Given the description of an element on the screen output the (x, y) to click on. 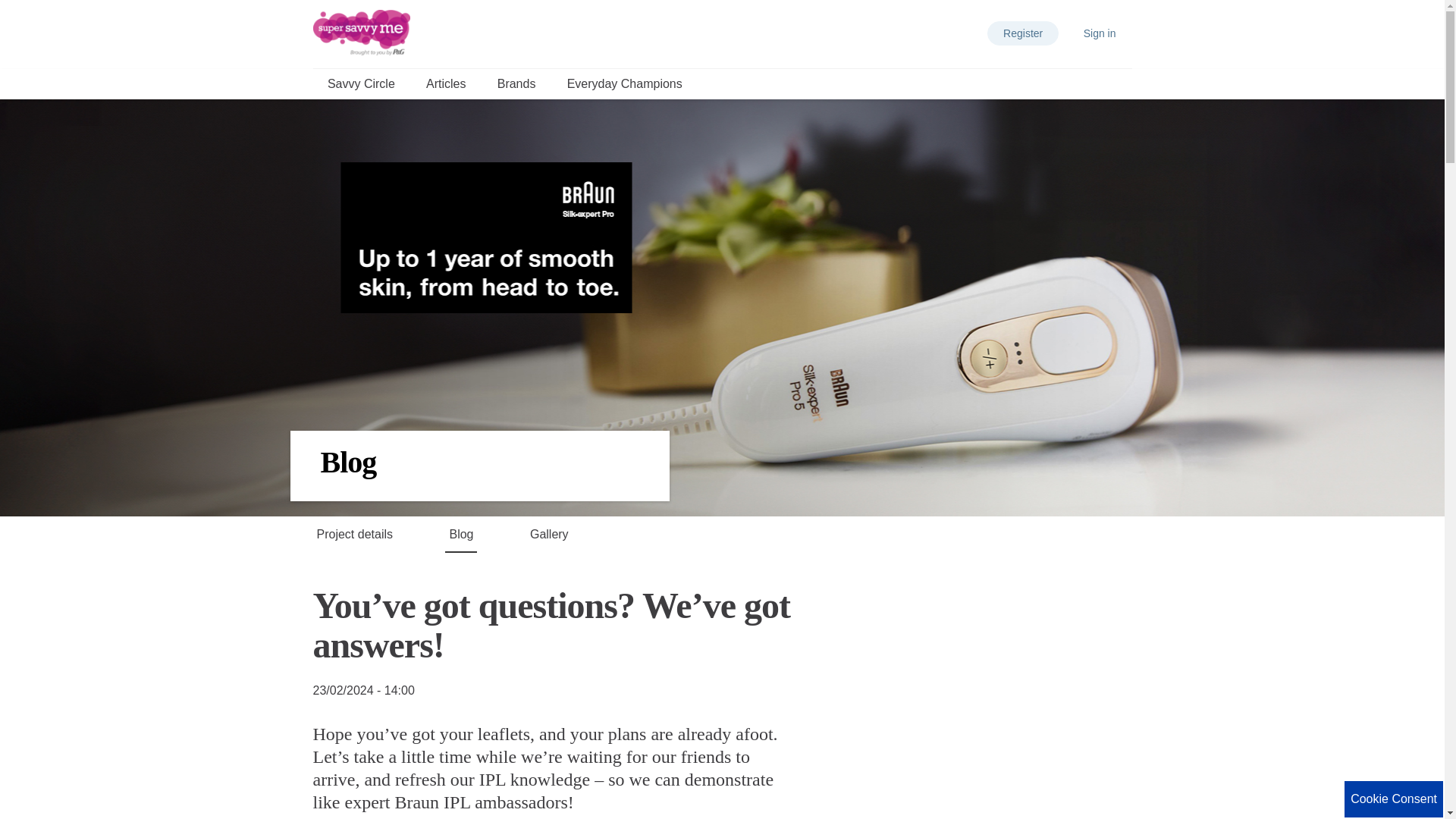
Register (1022, 33)
Sign in (1099, 33)
ssm-master-logo-1.png (361, 32)
Register (1022, 33)
Articles (446, 83)
Sign in (1099, 33)
Savvy Circle (361, 83)
Brands (515, 83)
